Given the description of an element on the screen output the (x, y) to click on. 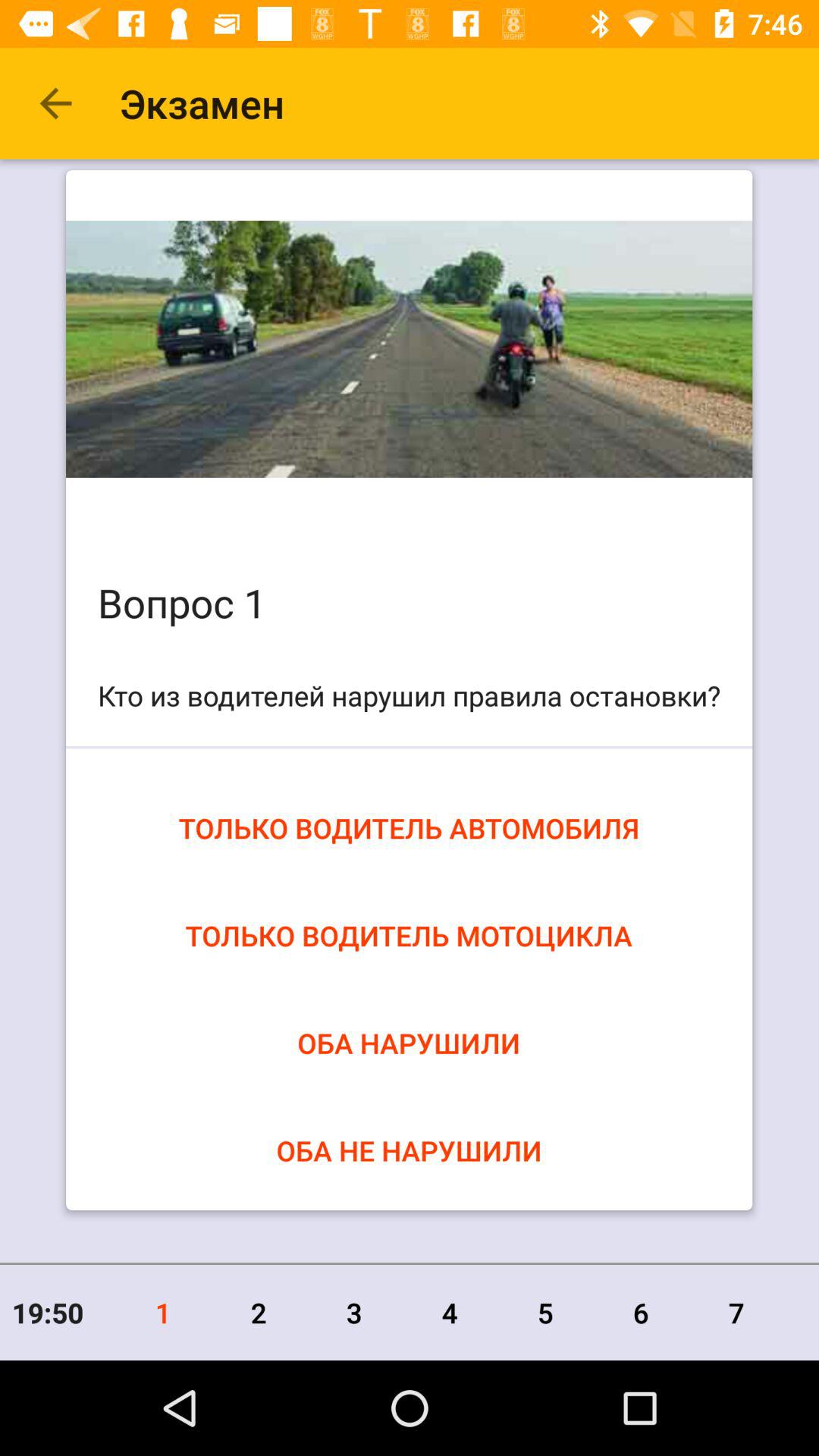
turn off 3 icon (354, 1312)
